Given the description of an element on the screen output the (x, y) to click on. 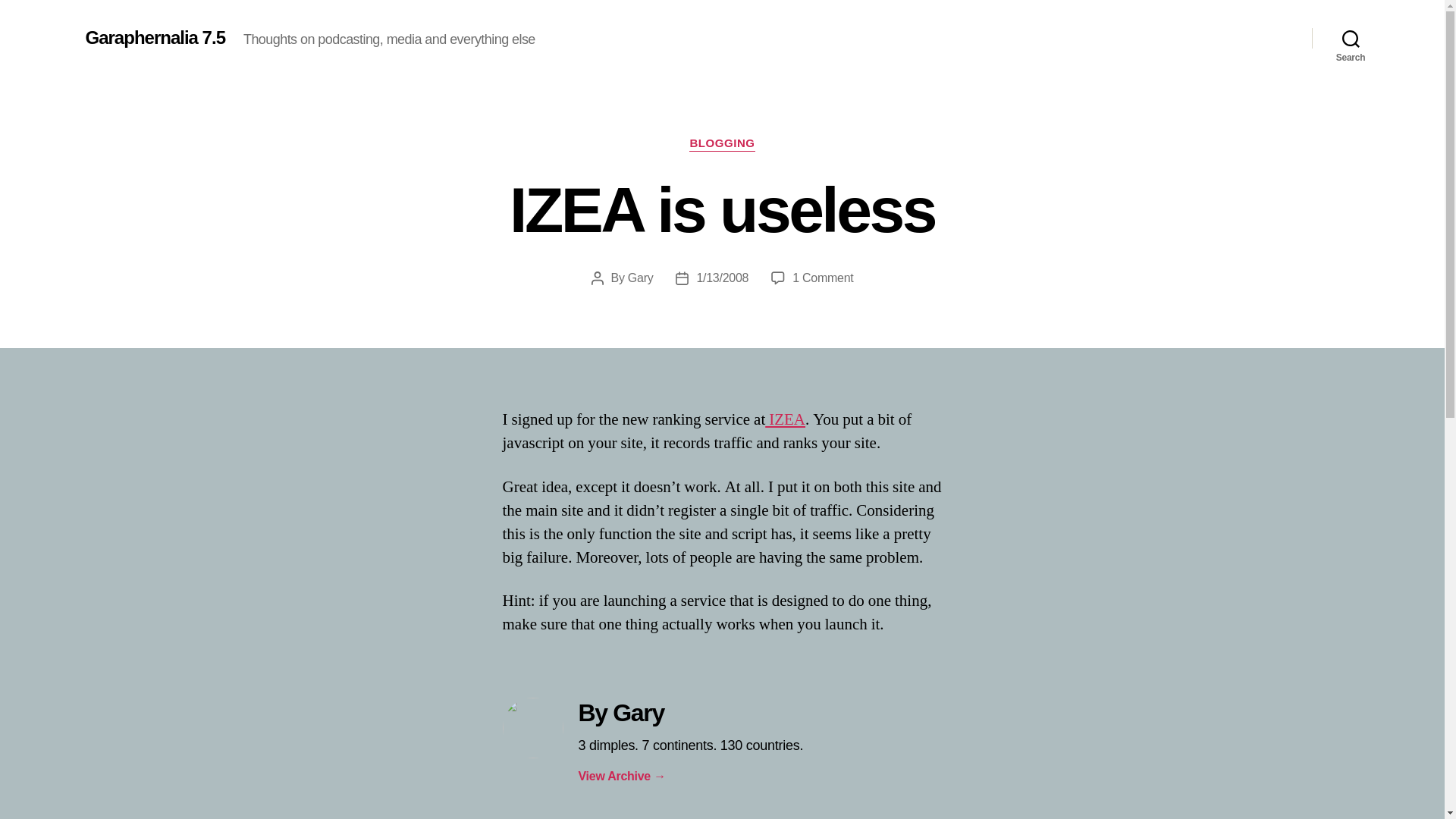
Search (1350, 37)
BLOGGING (721, 143)
IZEA (785, 419)
Gary (640, 277)
Garaphernalia 7.5 (154, 37)
